Given the description of an element on the screen output the (x, y) to click on. 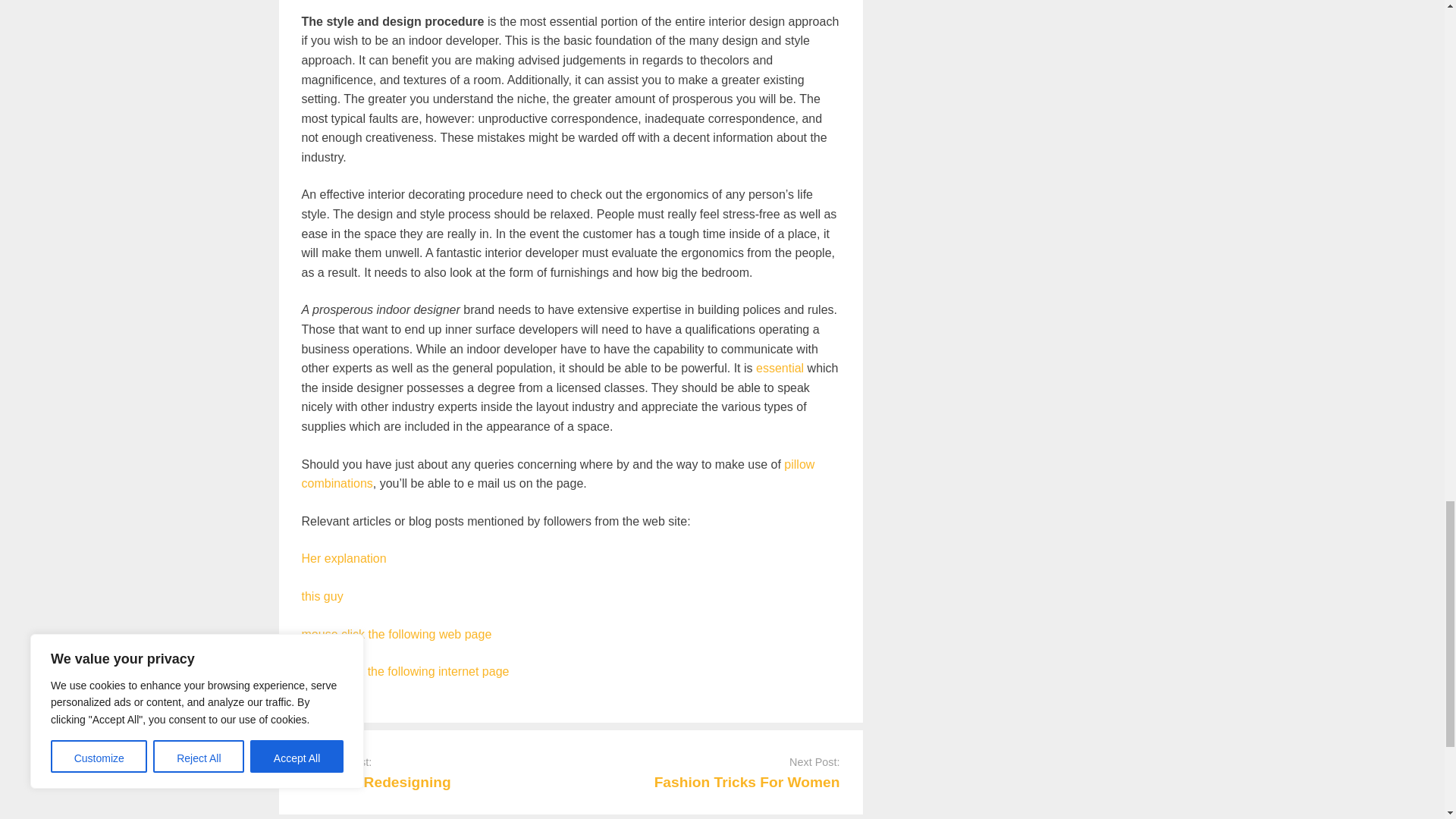
Value Of Redesigning (376, 781)
pillow combinations (558, 473)
Her explanation (344, 558)
this guy (322, 595)
please click the following internet page (405, 671)
essential (779, 367)
mouse click the following web page (396, 634)
Fashion Tricks For Women (746, 781)
